Given the description of an element on the screen output the (x, y) to click on. 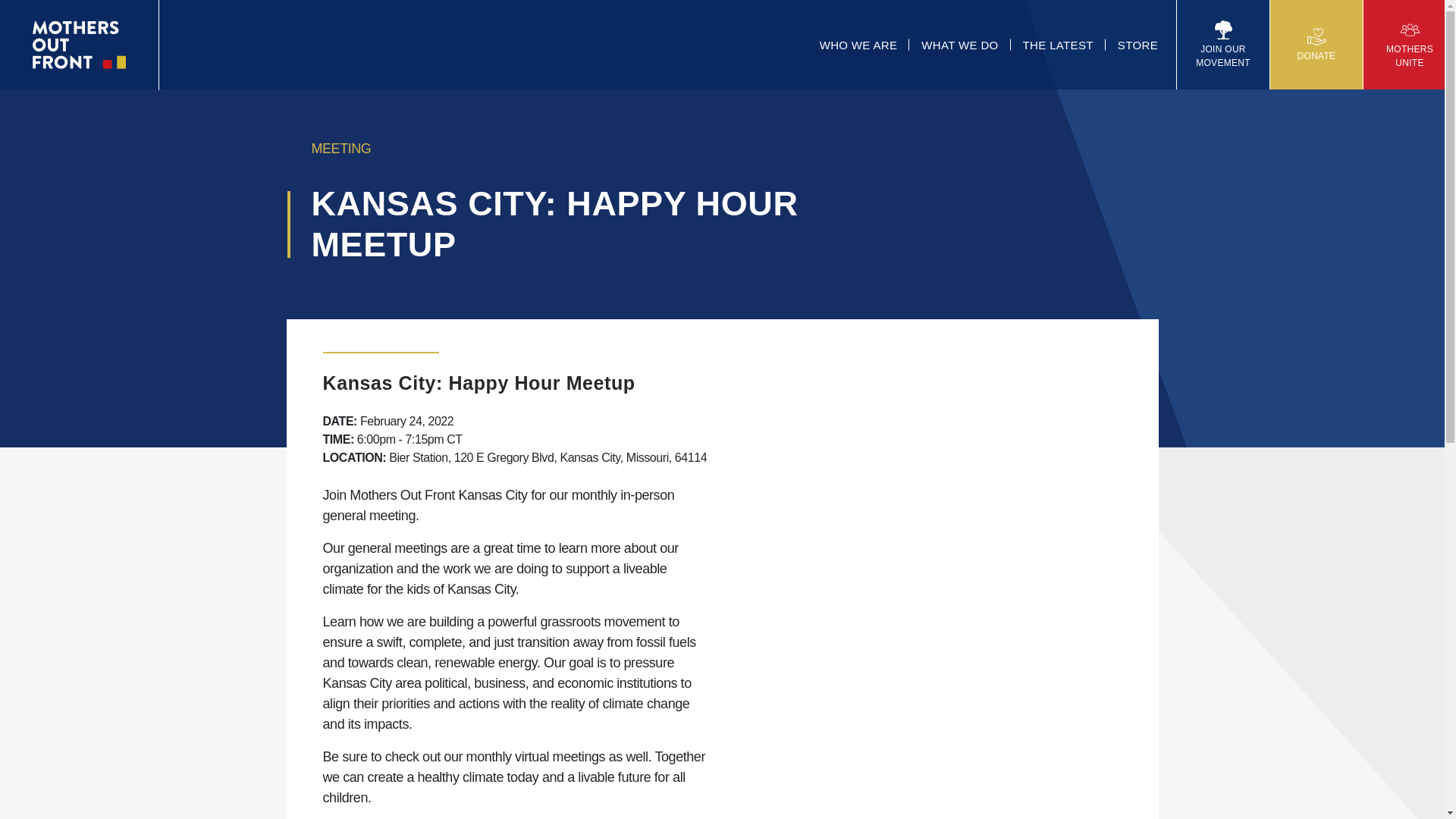
Mothers Out Front (78, 44)
JOIN OUR MOVEMENT (1222, 44)
WHO WE ARE (859, 44)
WHAT WE DO (959, 44)
THE LATEST (1057, 44)
Skip to main content (29, 22)
DONATE (1315, 44)
